Given the description of an element on the screen output the (x, y) to click on. 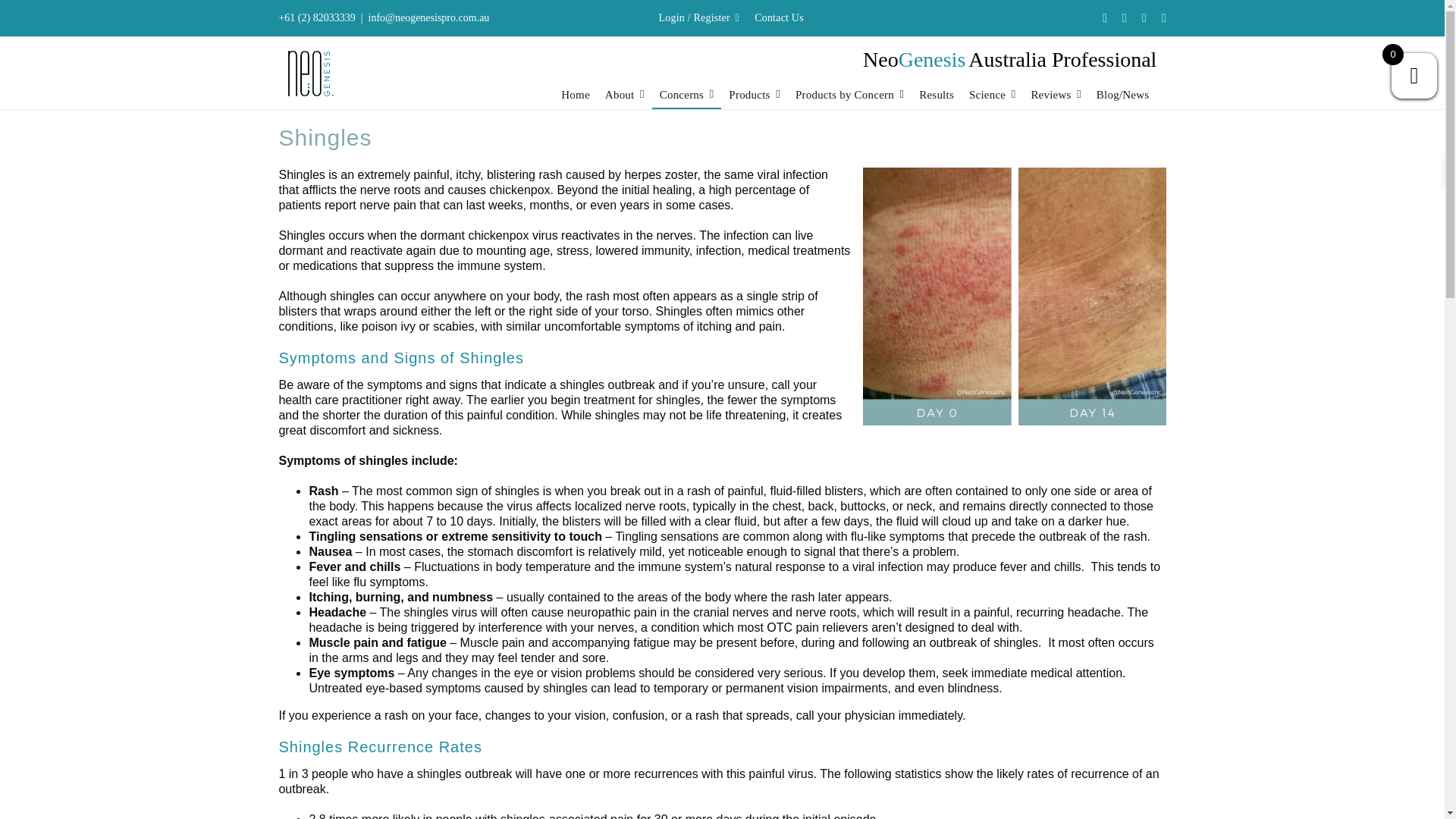
About (624, 98)
Home (574, 98)
Concerns (687, 98)
Contact Us (778, 18)
